Given the description of an element on the screen output the (x, y) to click on. 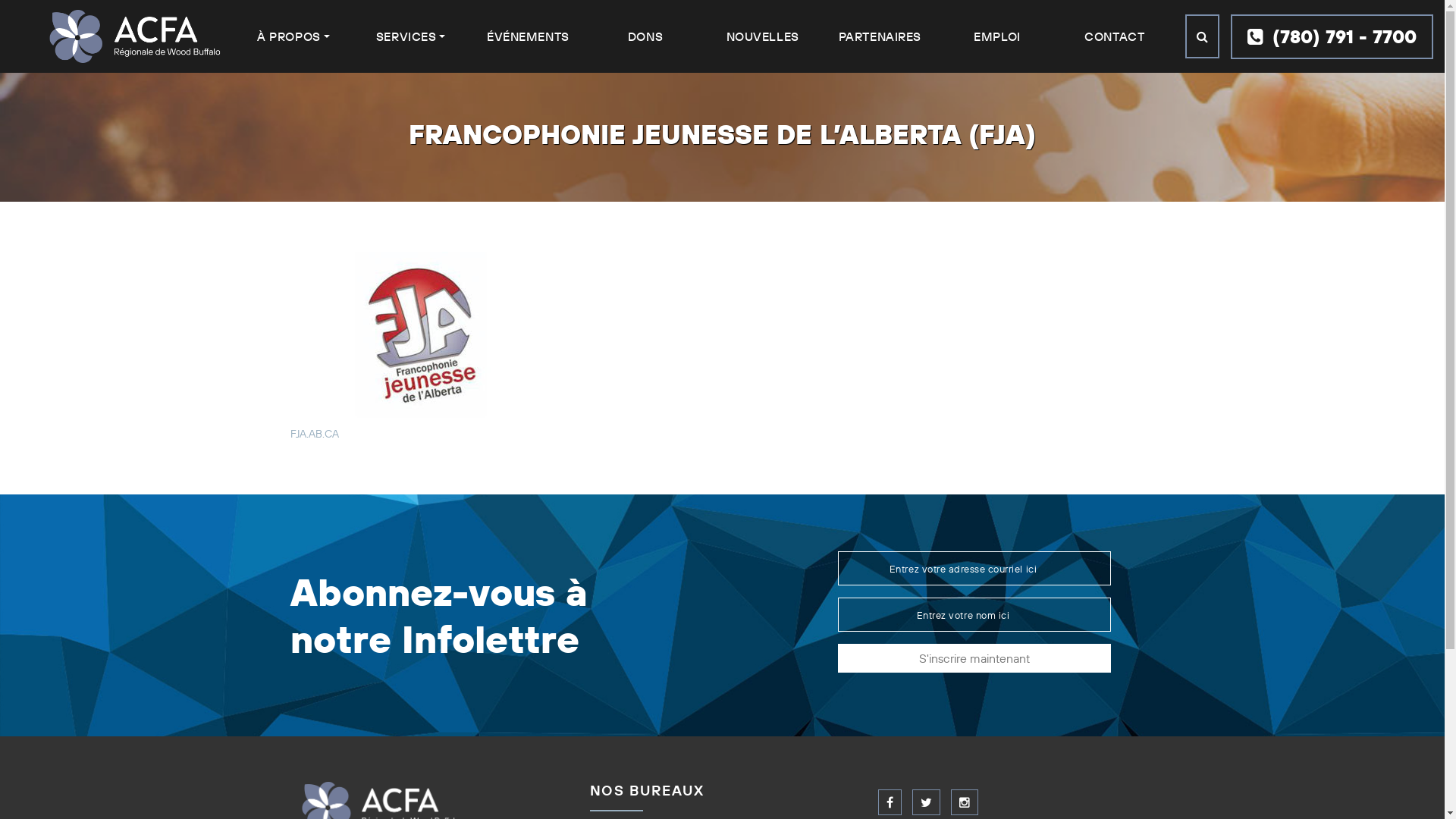
(780) 791 - 7700 Element type: text (1331, 35)
Search Element type: hover (1202, 36)
DONS Element type: text (645, 36)
NOUVELLES Element type: text (762, 36)
FJA.AB.CA Element type: text (313, 433)
EMPLOI Element type: text (996, 36)
PARTENAIRES Element type: text (879, 36)
SERVICES Element type: text (410, 36)
CONTACT Element type: text (1114, 36)
S'inscrire maintenant Element type: text (973, 657)
